Given the description of an element on the screen output the (x, y) to click on. 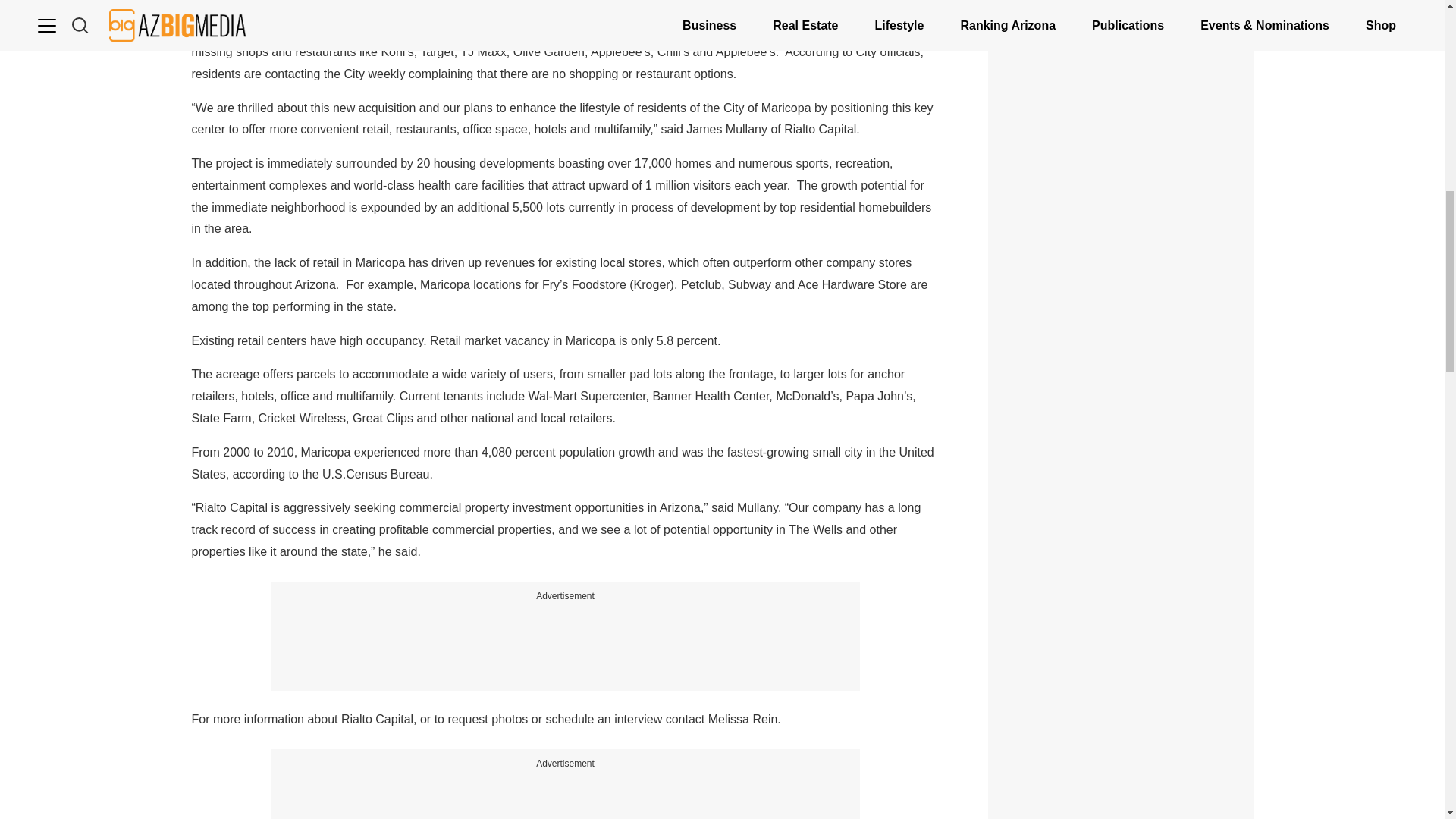
3rd party ad content (1120, 253)
3rd party ad content (1120, 770)
3rd party ad content (1120, 609)
3rd party ad content (565, 638)
3rd party ad content (565, 795)
